Given the description of an element on the screen output the (x, y) to click on. 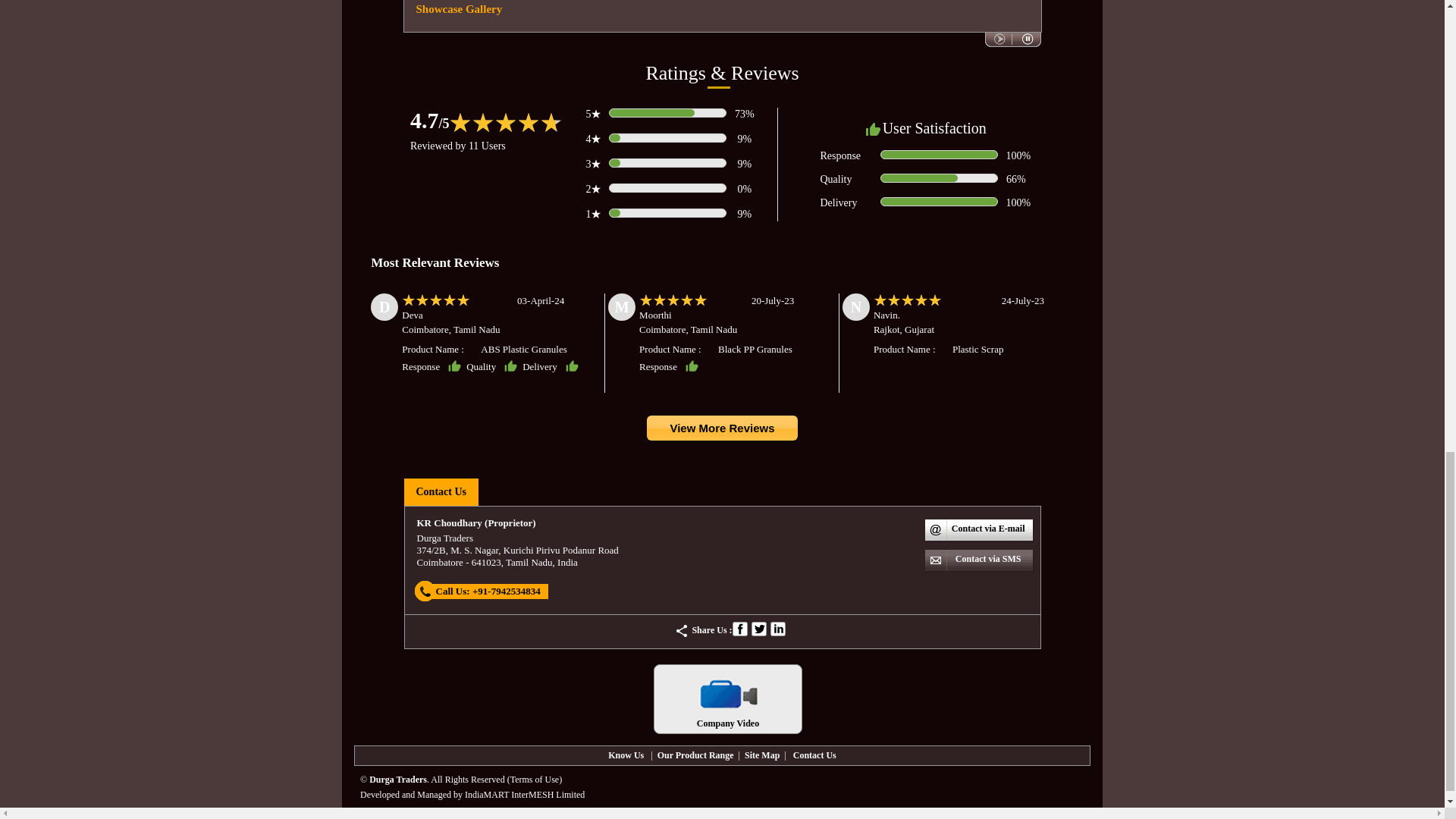
Company Video (727, 698)
Terms of Use (535, 778)
Contact Us (814, 755)
IndiaMART InterMESH Limited (524, 794)
L (778, 628)
Contact Us (439, 491)
Our Product Range (695, 755)
Site Map (761, 755)
F (740, 628)
T (759, 628)
View More Reviews (721, 429)
Know Us (625, 755)
4.7 out of 5 Votes (429, 119)
